Given the description of an element on the screen output the (x, y) to click on. 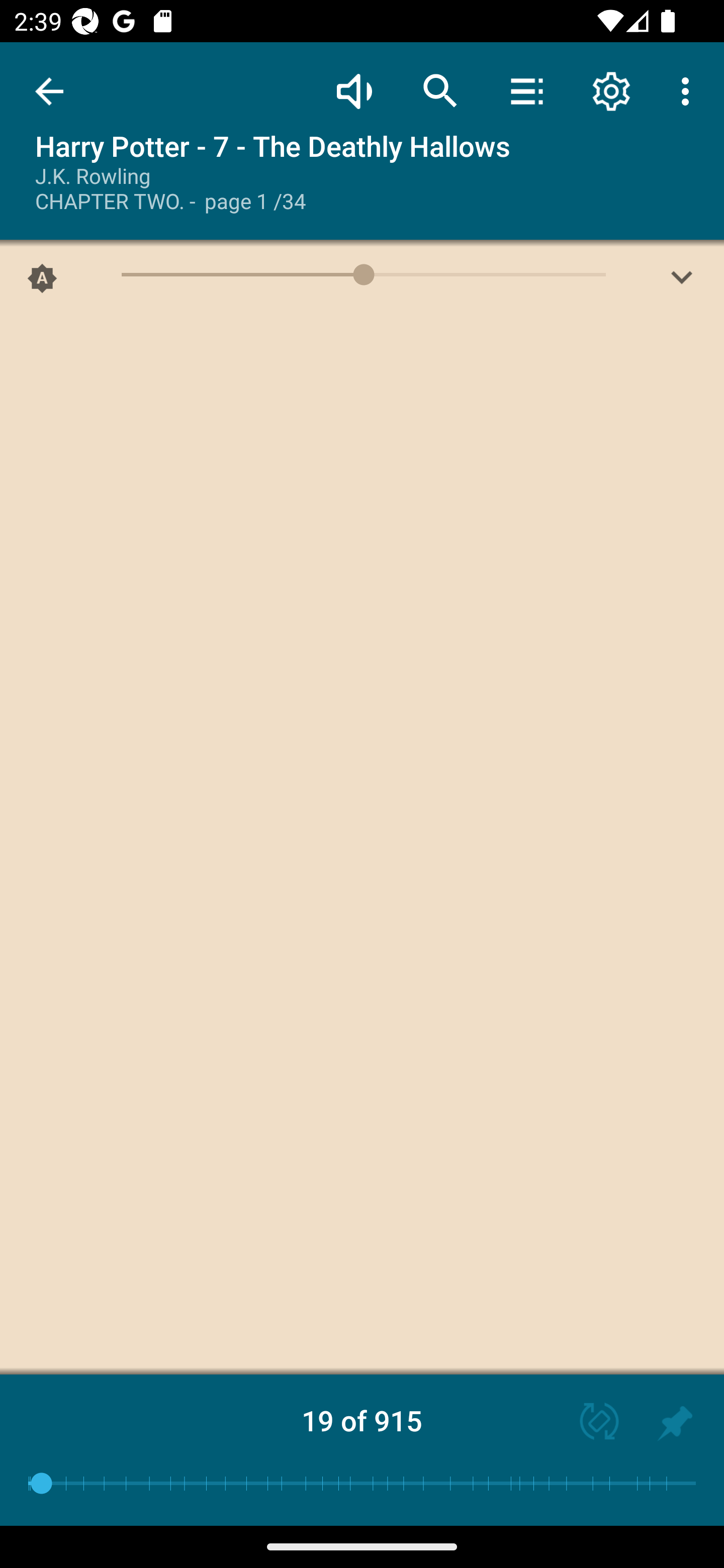
Exit reading (49, 91)
Read aloud (354, 90)
Text search (440, 90)
Contents / Bookmarks / Quotes (526, 90)
Reading settings (611, 90)
More options (688, 90)
Selected screen brightness (42, 281)
Screen brightness settings (681, 281)
19 of 915 (361, 1420)
Screen orientation (590, 1423)
Add to history (674, 1423)
